Given the description of an element on the screen output the (x, y) to click on. 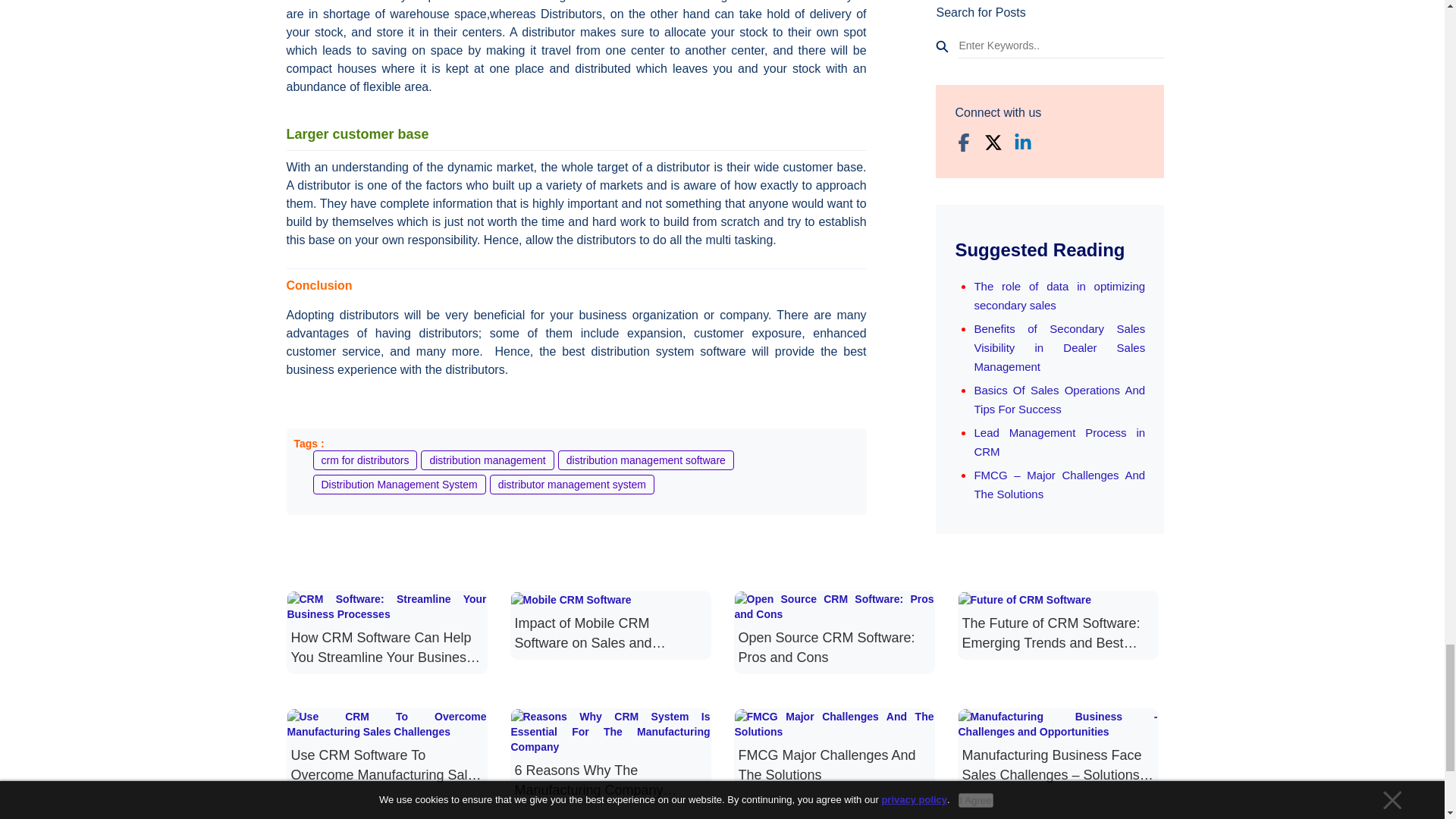
Distribution Management System (398, 484)
distribution management software (645, 460)
distributor management system (571, 484)
Impact of Mobile CRM Software on Sales and Marketing (610, 621)
distribution management (486, 460)
crm for distributors (364, 460)
Open Source CRM Software: Pros and Cons (833, 629)
